Given the description of an element on the screen output the (x, y) to click on. 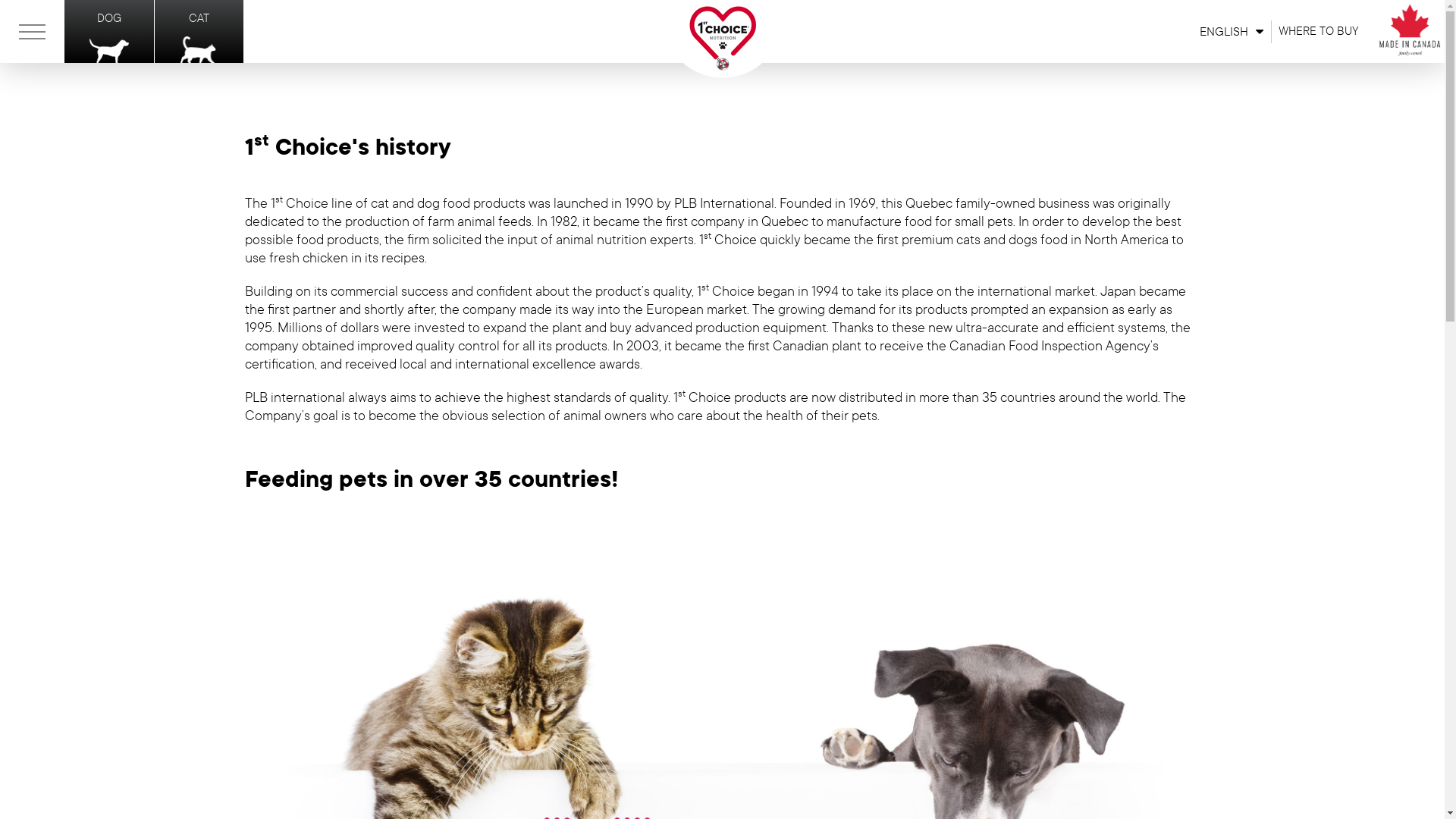
CAT Element type: text (199, 31)
ENGLISH Element type: text (1206, 31)
WHERE TO BUY Element type: text (1318, 31)
DOG Element type: text (108, 31)
